Given the description of an element on the screen output the (x, y) to click on. 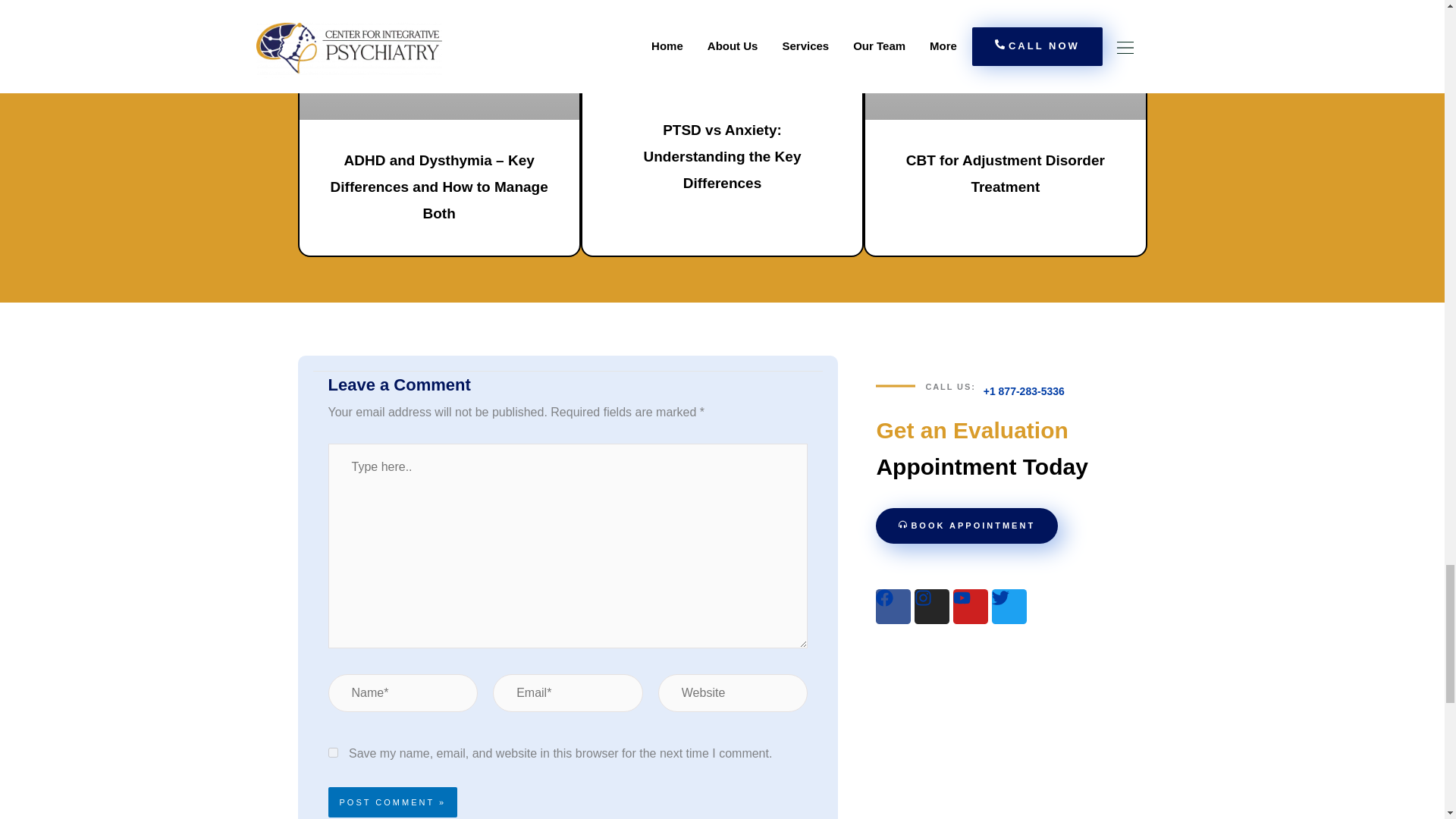
yes (332, 752)
